Given the description of an element on the screen output the (x, y) to click on. 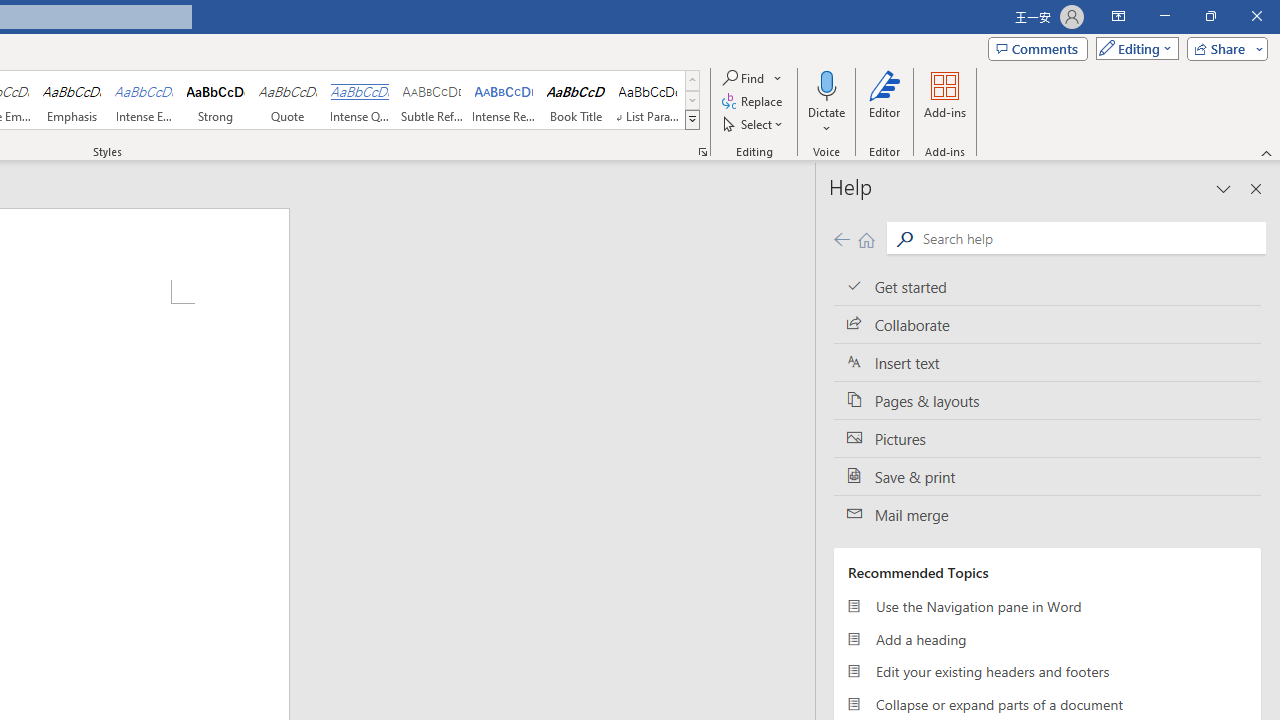
Intense Reference (504, 100)
Use the Navigation pane in Word (1047, 605)
